Given the description of an element on the screen output the (x, y) to click on. 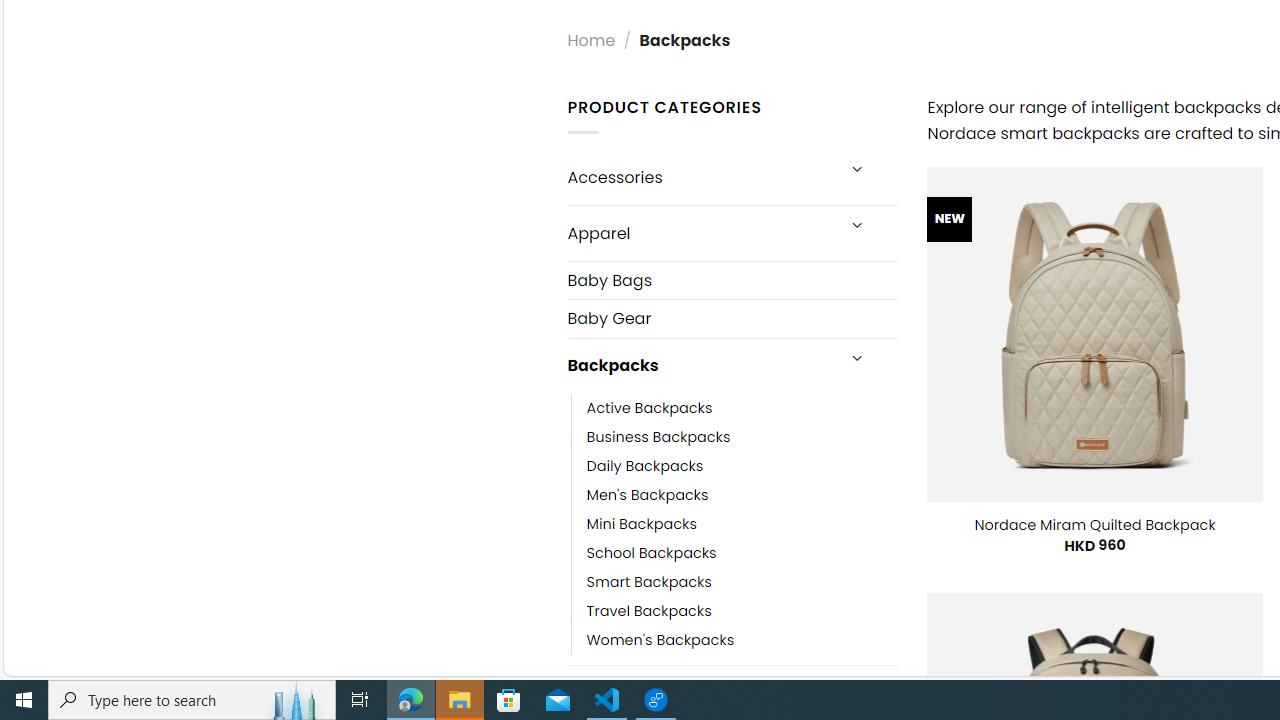
Women's Backpacks (660, 639)
Business Backpacks (742, 436)
